Given the description of an element on the screen output the (x, y) to click on. 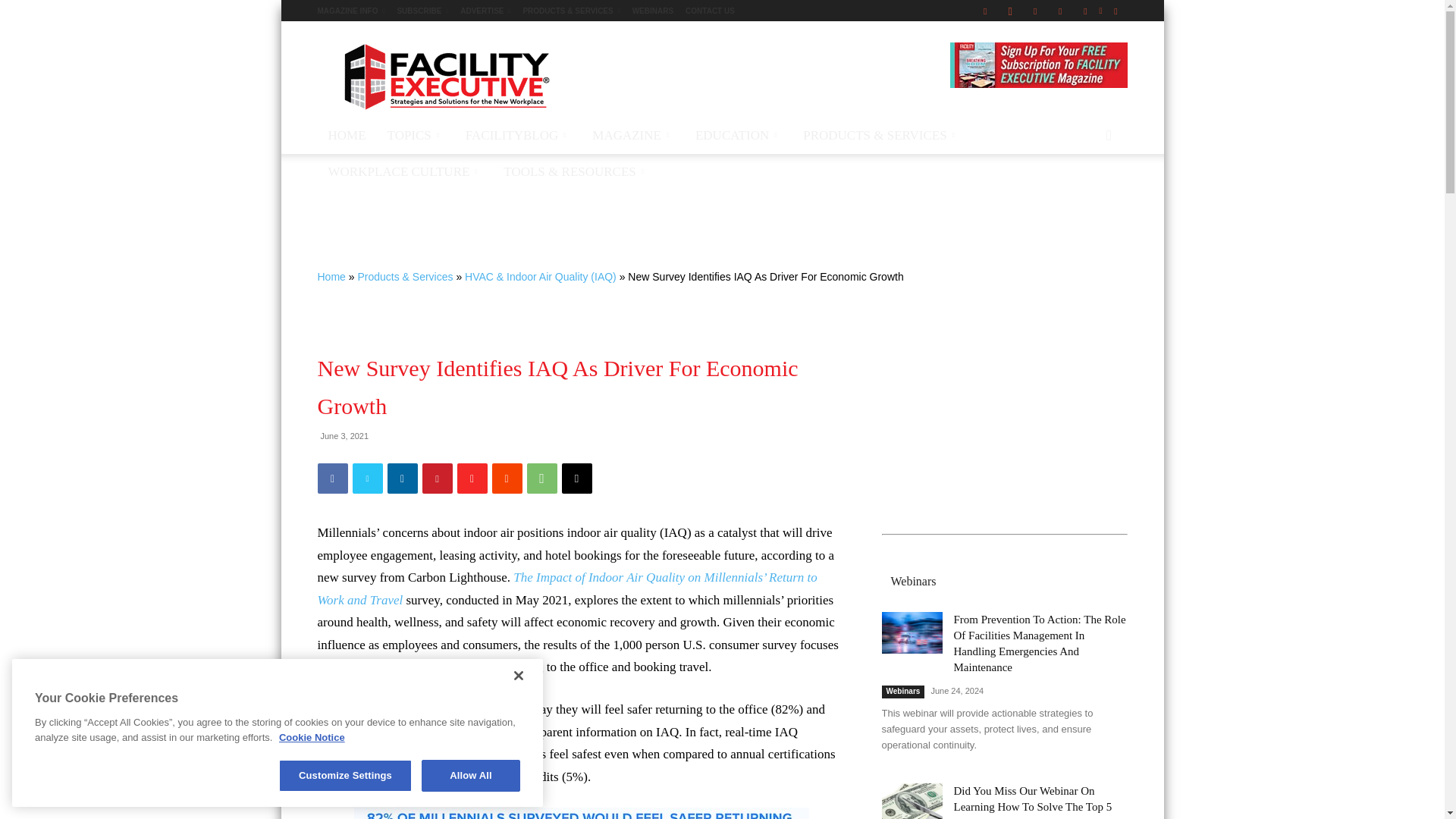
Facebook (984, 10)
Instagram (1010, 10)
Strategies and Solutions for the New Workplace (445, 76)
Pinterest (1059, 10)
Youtube (1114, 10)
RSS (1085, 10)
Linkedin (1034, 10)
